Given the description of an element on the screen output the (x, y) to click on. 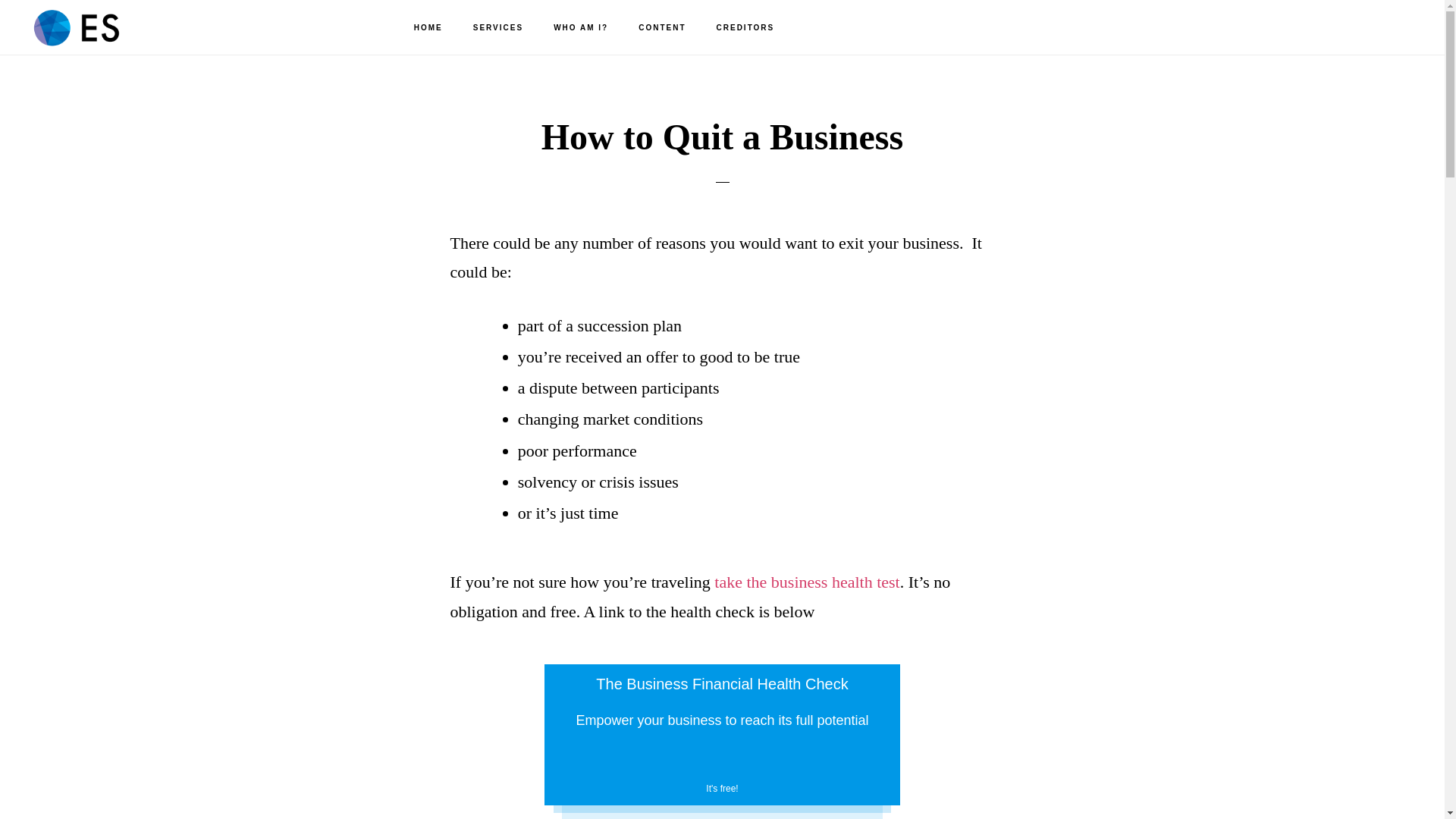
EDDIE SENATORE (98, 26)
take the business health test (806, 581)
WHO AM I? (580, 27)
HOME (428, 27)
CREDITORS (745, 27)
CONTENT (661, 27)
SERVICES (498, 27)
